Given the description of an element on the screen output the (x, y) to click on. 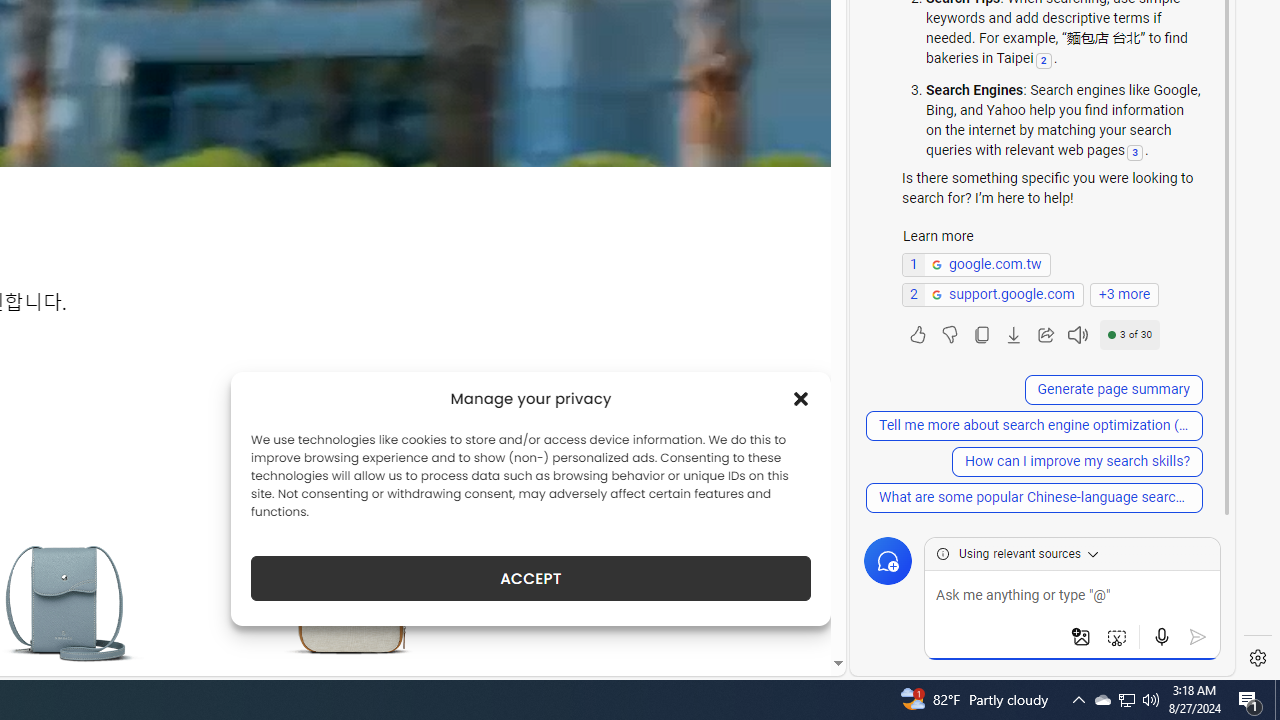
Class: cmplz-close (801, 398)
ACCEPT (530, 578)
